Given the description of an element on the screen output the (x, y) to click on. 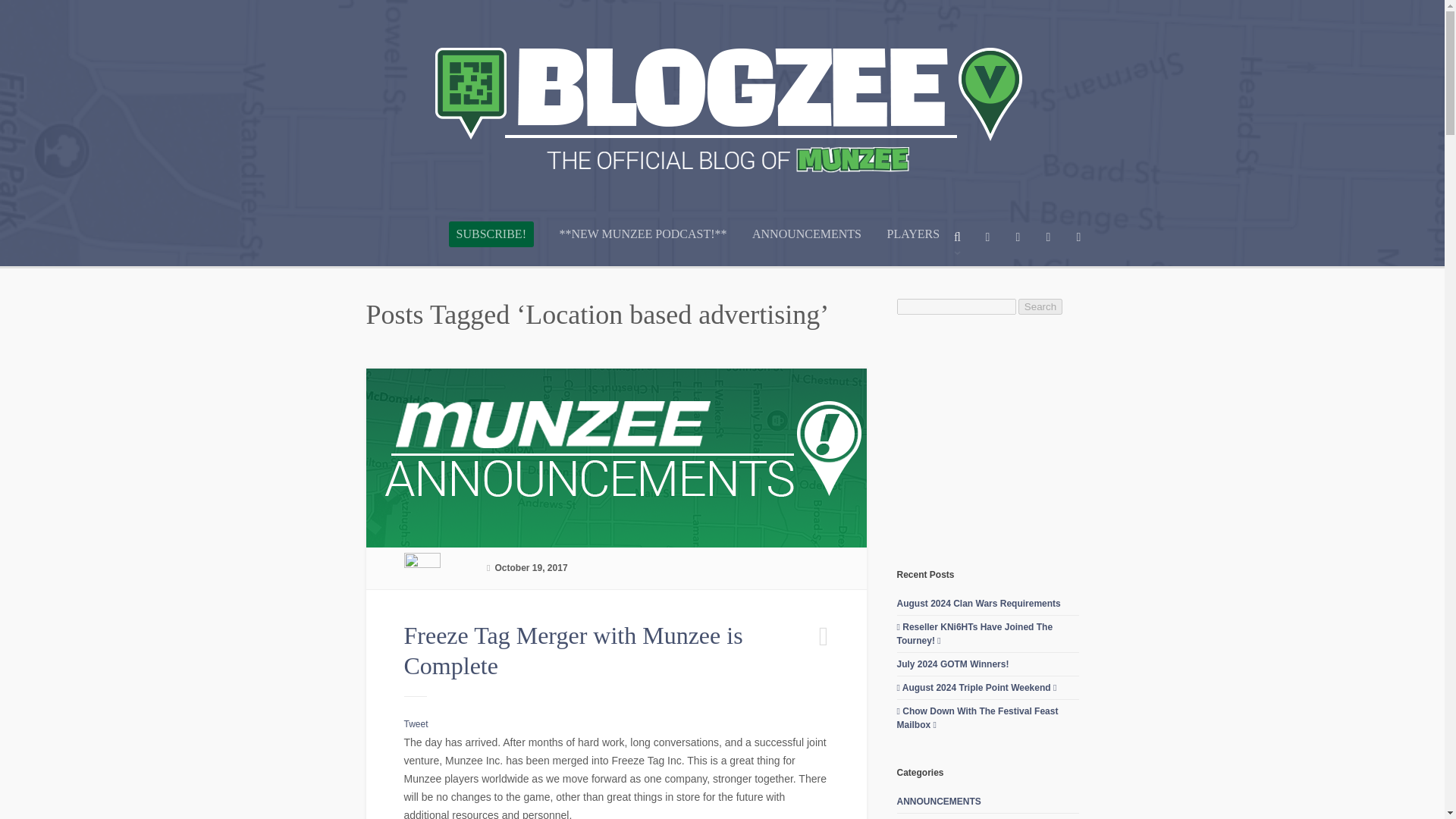
Advertisement (1010, 439)
PLAYERS (913, 246)
Freeze Tag Merger with Munzee is Complete (572, 650)
Permalink to Freeze Tag Merger with Munzee is Complete (572, 650)
Search (1039, 306)
SUBSCRIBE! (491, 234)
ANNOUNCEMENTS (806, 246)
Tweet (415, 724)
